Given the description of an element on the screen output the (x, y) to click on. 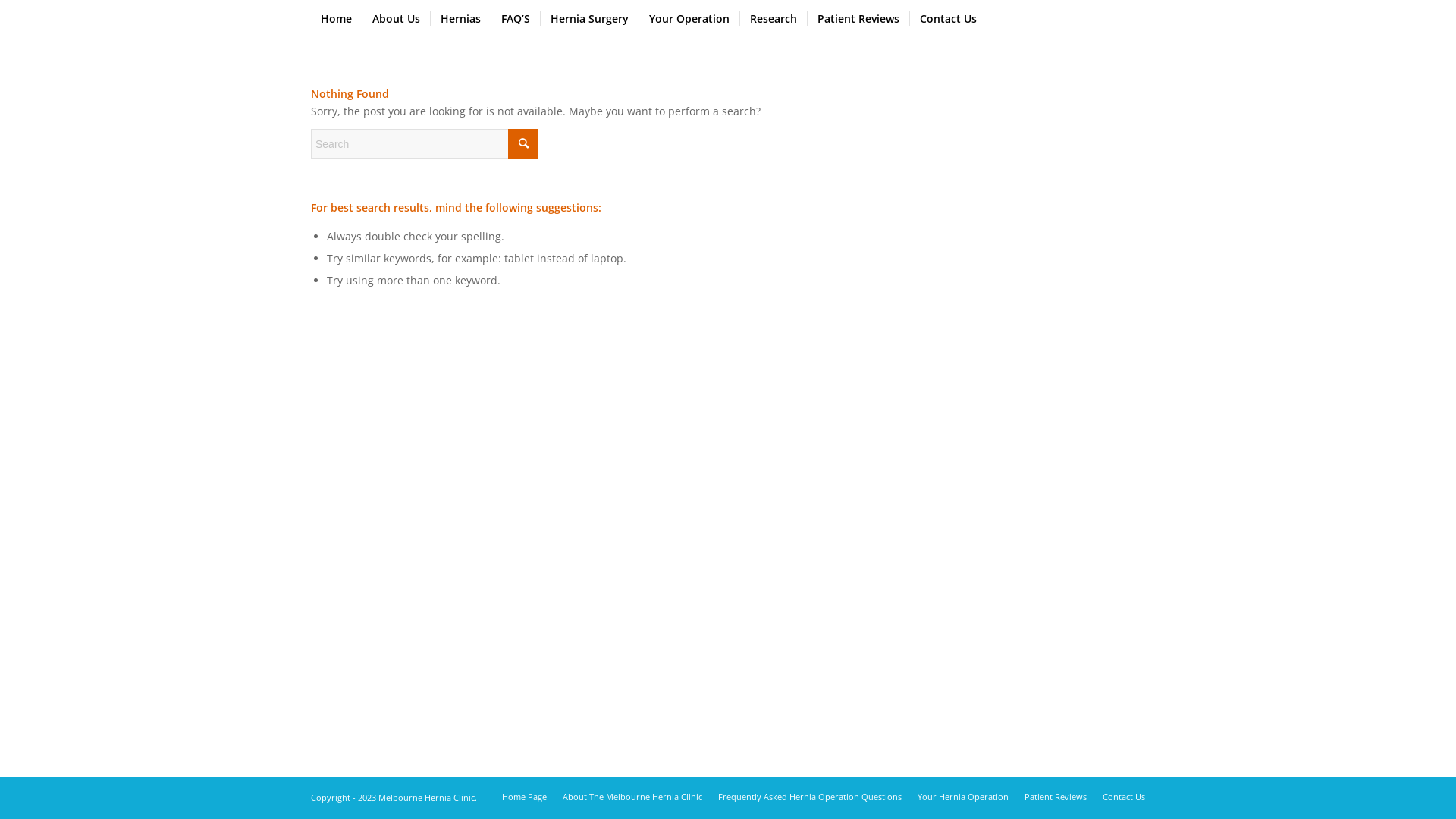
Home Page Element type: text (524, 796)
About The Melbourne Hernia Clinic Element type: text (632, 796)
Patient Reviews Element type: text (1055, 796)
Contact Us Element type: text (947, 18)
Your Operation Element type: text (688, 18)
Your Hernia Operation Element type: text (962, 796)
Patient Reviews Element type: text (857, 18)
Contact Us Element type: text (1123, 796)
Research Element type: text (772, 18)
Frequently Asked Hernia Operation Questions Element type: text (809, 796)
Hernias Element type: text (459, 18)
About Us Element type: text (395, 18)
Hernia Surgery Element type: text (588, 18)
Home Element type: text (335, 18)
Copyright - 2023 Melbourne Hernia Clinic. Element type: text (393, 797)
